Given the description of an element on the screen output the (x, y) to click on. 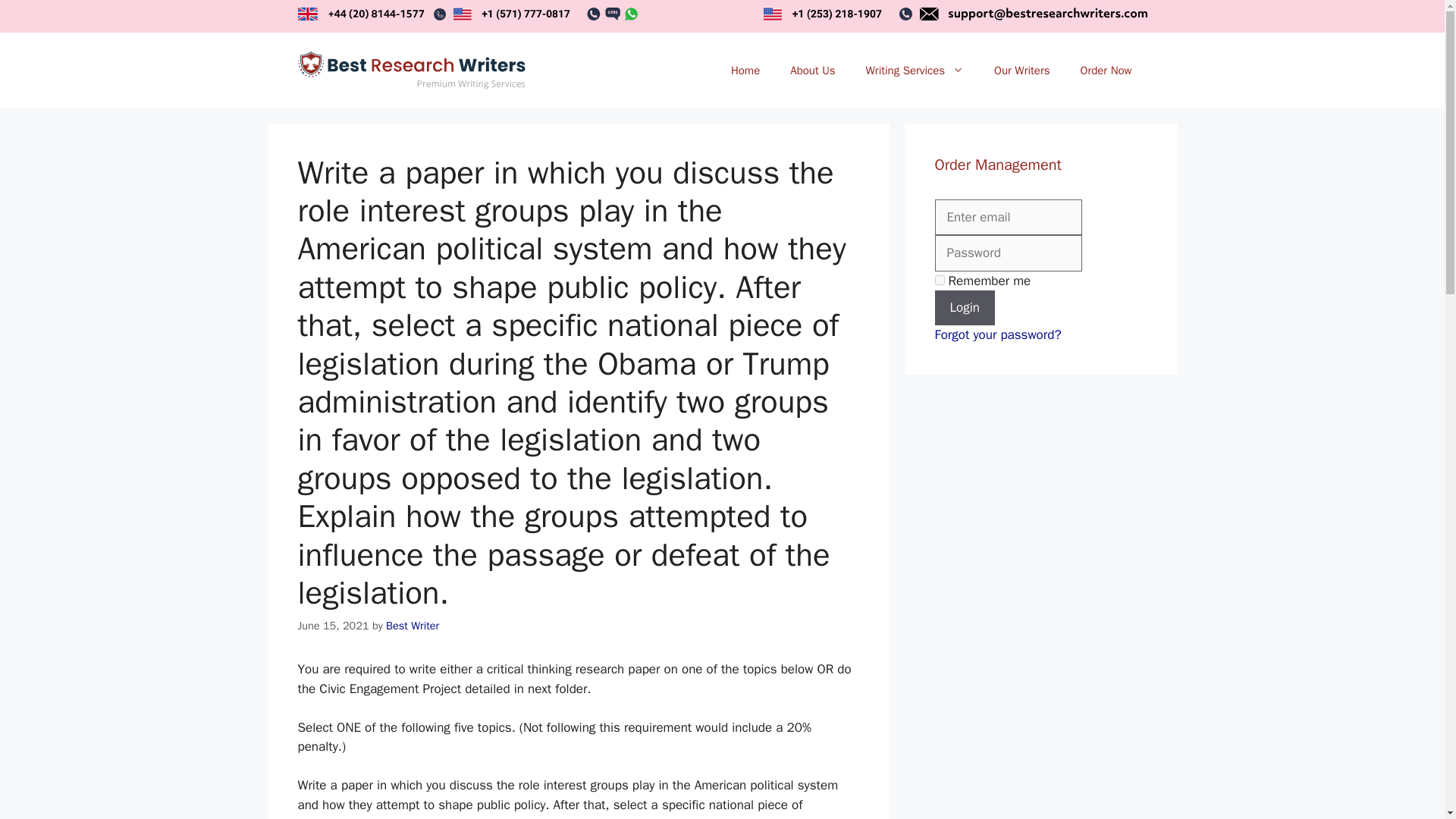
Login (964, 307)
Order Now (1105, 70)
Writing Services (914, 70)
on (938, 280)
Our Writers (1021, 70)
About Us (812, 70)
click to Login (964, 307)
Home (745, 70)
Forgot your password? (997, 334)
Best Writer (412, 625)
View all posts by Best Writer (412, 625)
Recover password (997, 334)
